Given the description of an element on the screen output the (x, y) to click on. 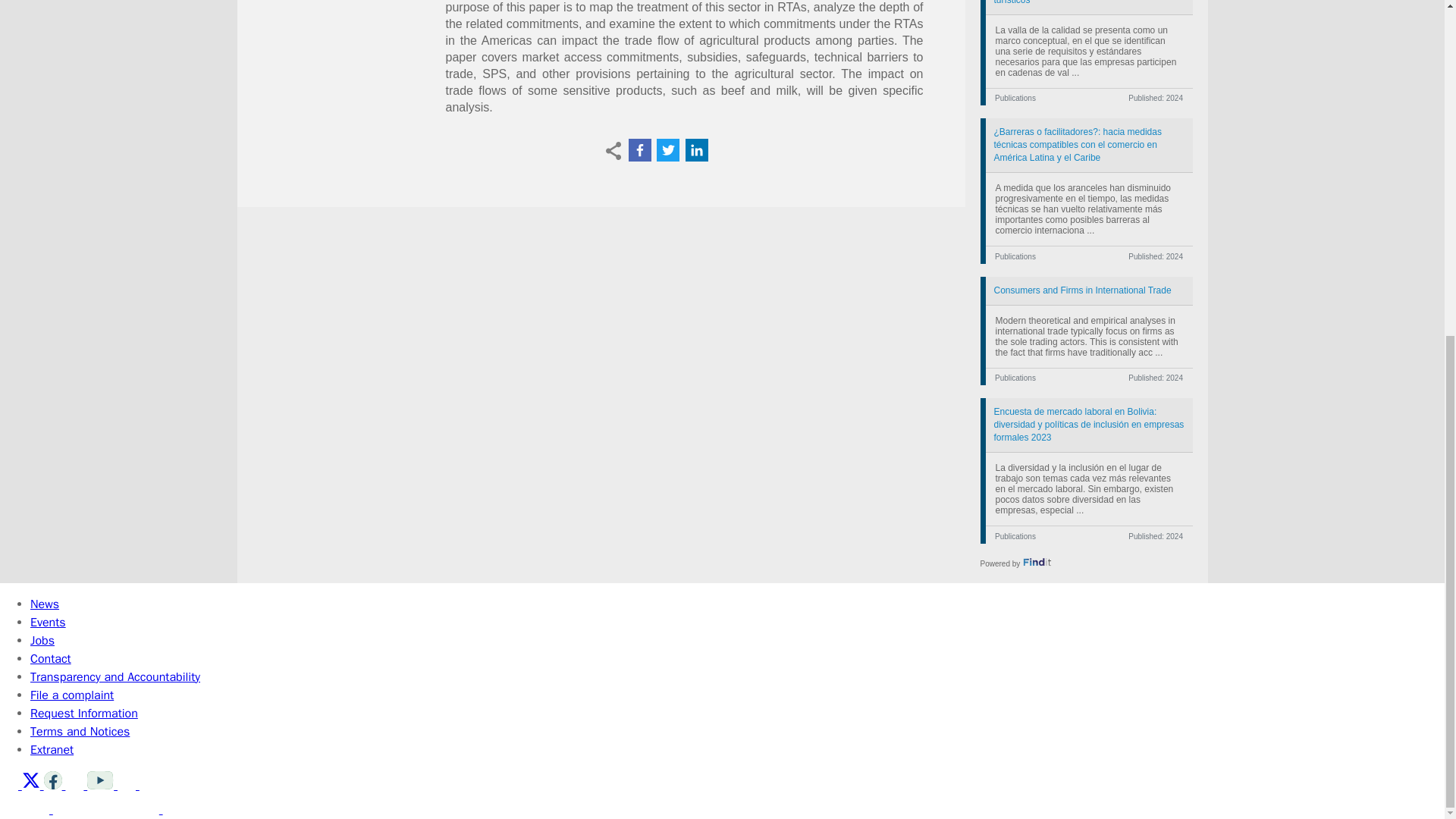
Share on LinkedIn (696, 149)
Share on Twitter (667, 149)
El enfoque de la  (1088, 7)
Share on Facebook (638, 149)
Consumers and Firms in International Trade (1088, 290)
